Given the description of an element on the screen output the (x, y) to click on. 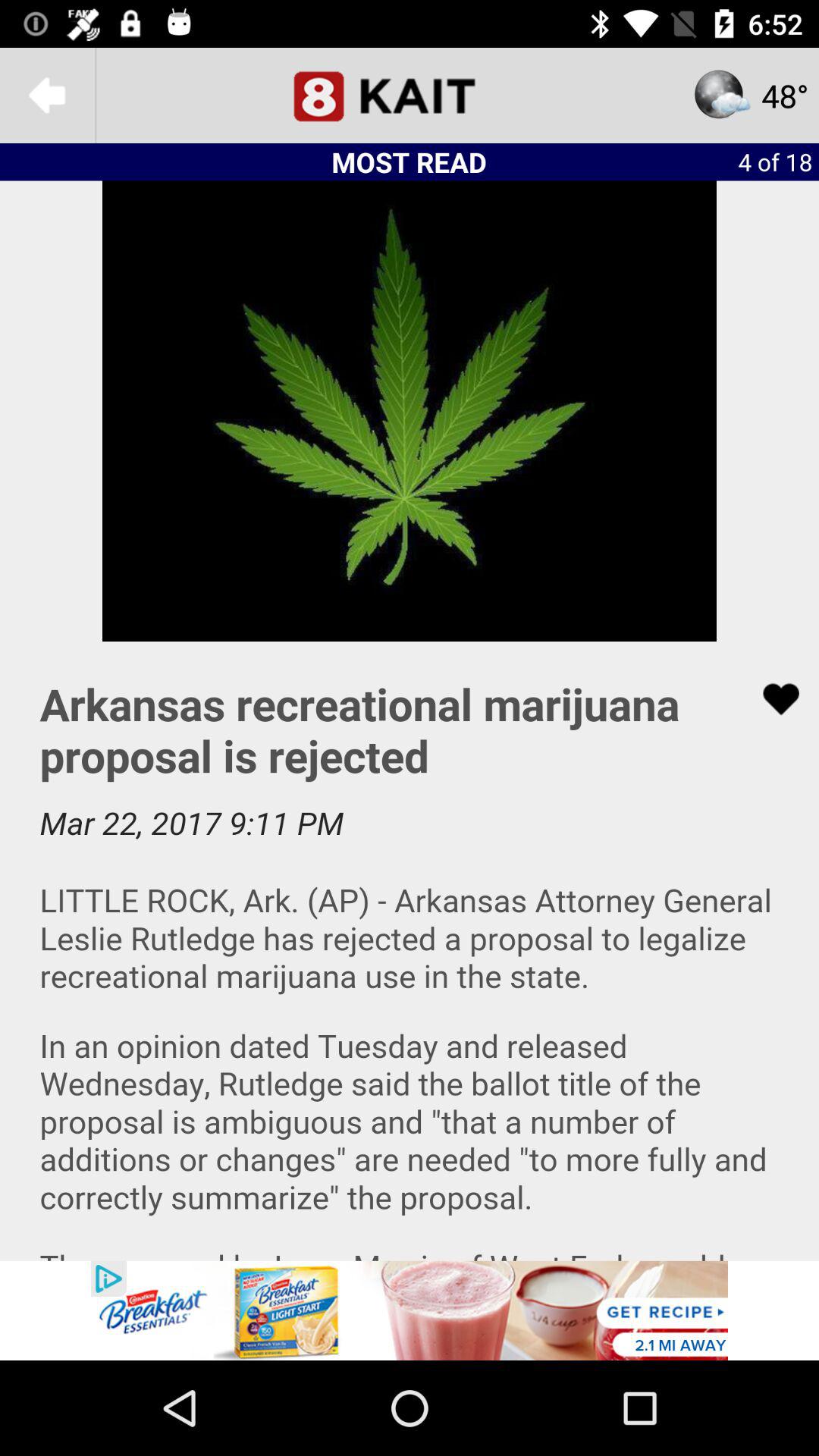
like (771, 699)
